Given the description of an element on the screen output the (x, y) to click on. 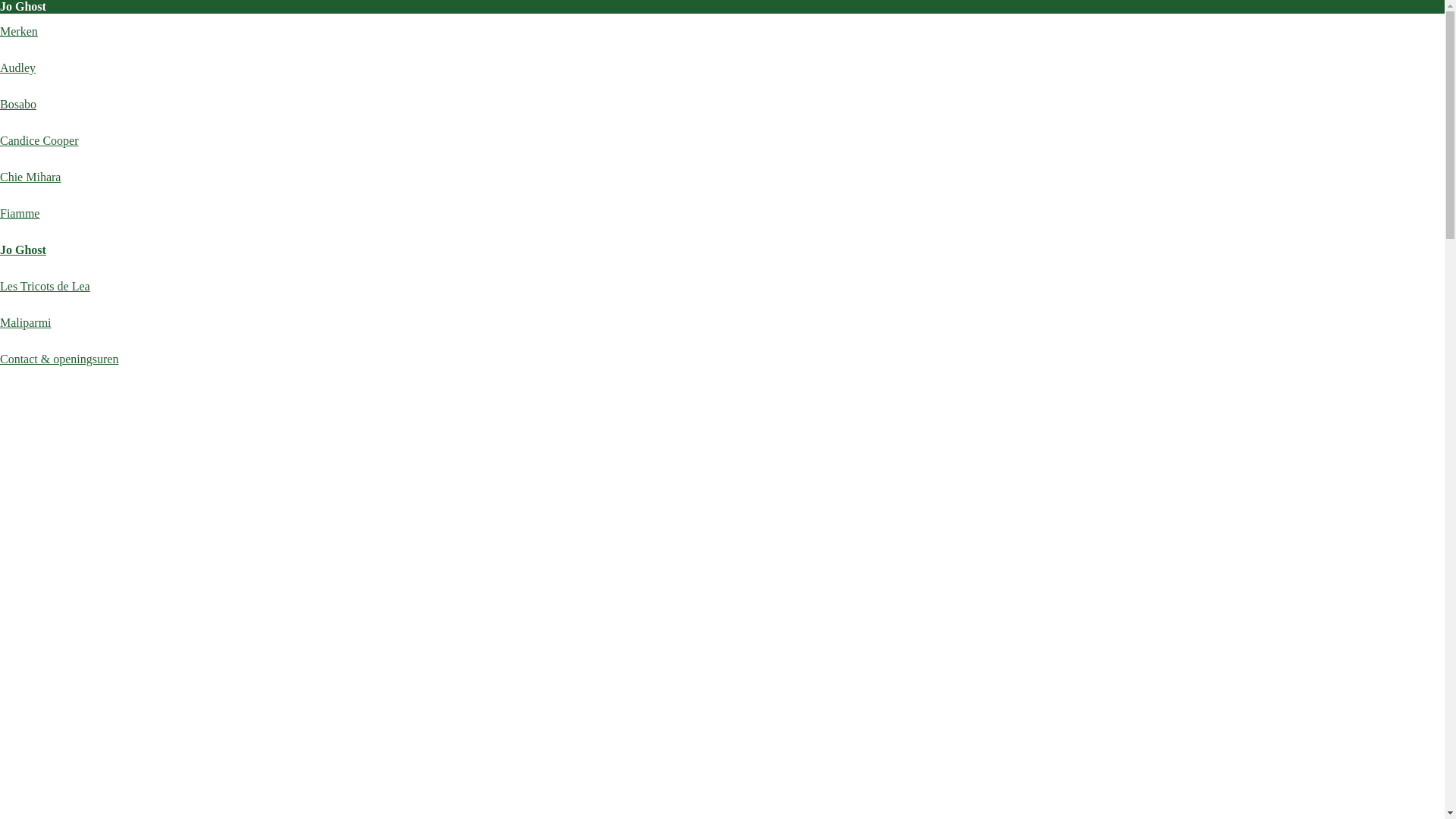
Contact & openingsuren Element type: text (59, 358)
Chie Mihara Element type: text (30, 176)
Jo Ghost Element type: text (23, 249)
Bosabo Element type: text (18, 103)
Fiamme Element type: text (19, 213)
Maliparmi Element type: text (25, 322)
Les Tricots de Lea Element type: text (45, 285)
Candice Cooper Element type: text (39, 140)
Merken Element type: text (18, 31)
Audley Element type: text (17, 67)
